Given the description of an element on the screen output the (x, y) to click on. 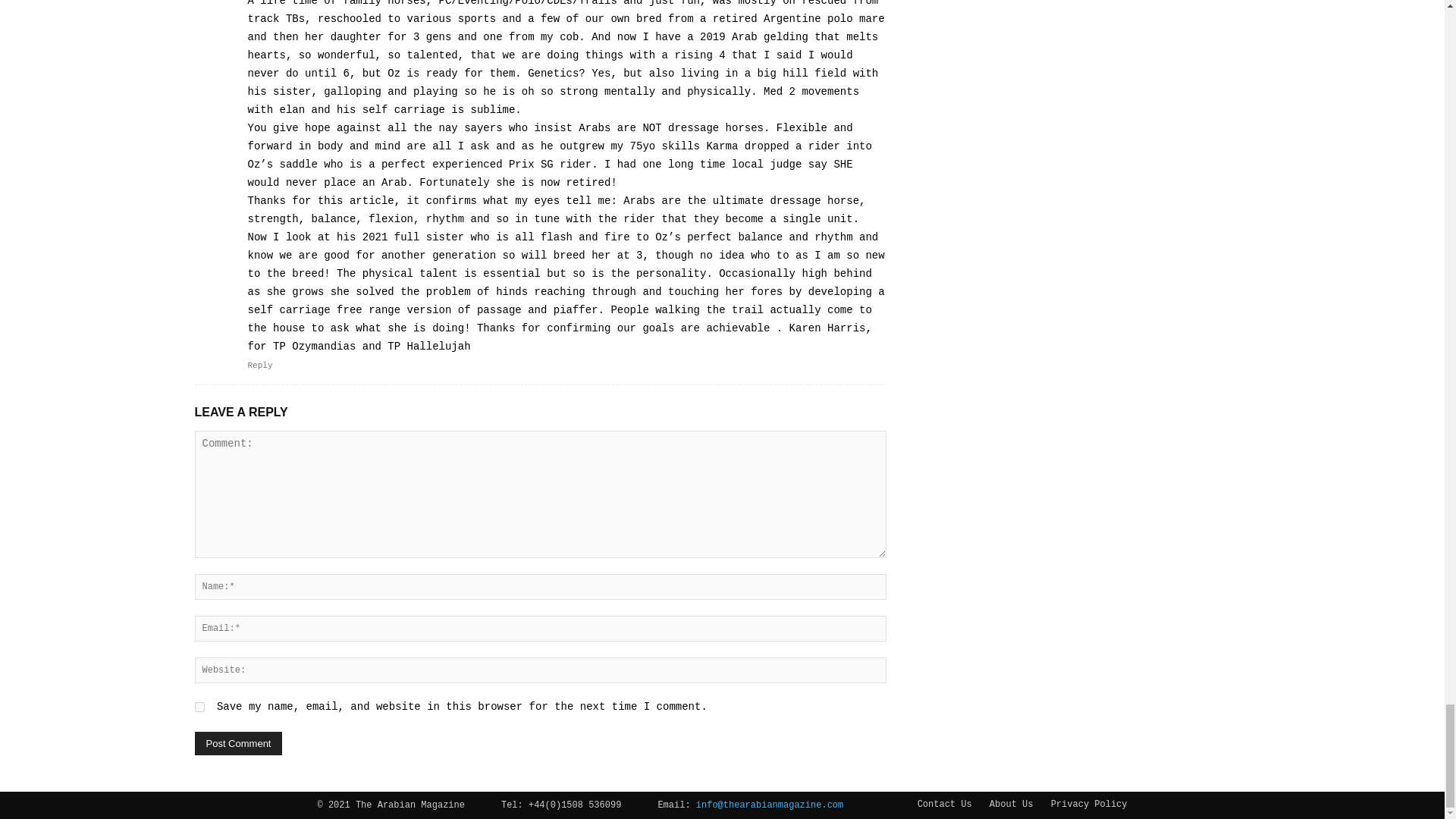
yes (198, 706)
Post Comment (237, 743)
